Given the description of an element on the screen output the (x, y) to click on. 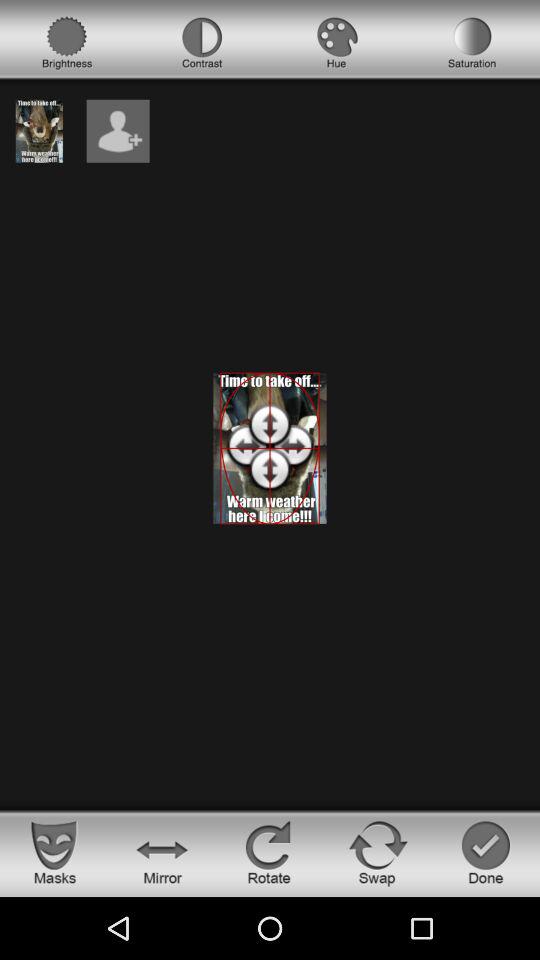
open image (39, 130)
